Given the description of an element on the screen output the (x, y) to click on. 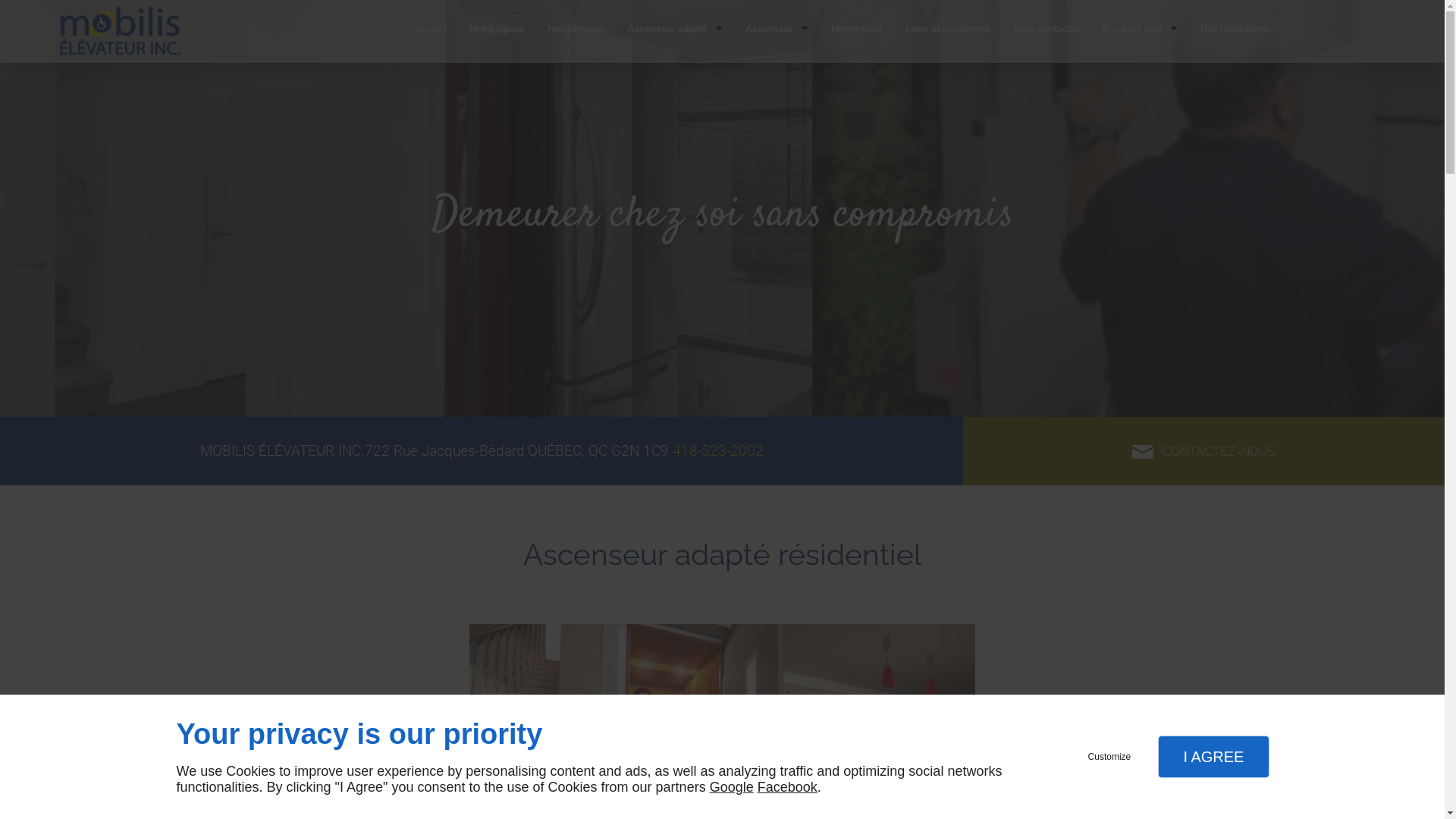
Facebook Element type: text (787, 786)
418-523-2002 Element type: text (716, 450)
Accueil Element type: text (430, 31)
Ascenseur Element type: text (776, 31)
En savoir plus Element type: text (1140, 31)
Nous contacter Element type: text (1046, 31)
Liens et documents Element type: text (947, 31)
CONTACTEZ-NOUS Element type: text (1203, 451)
Nos Services Element type: text (576, 31)
Google Element type: text (731, 786)
Monte-plats Element type: text (856, 31)
